Given the description of an element on the screen output the (x, y) to click on. 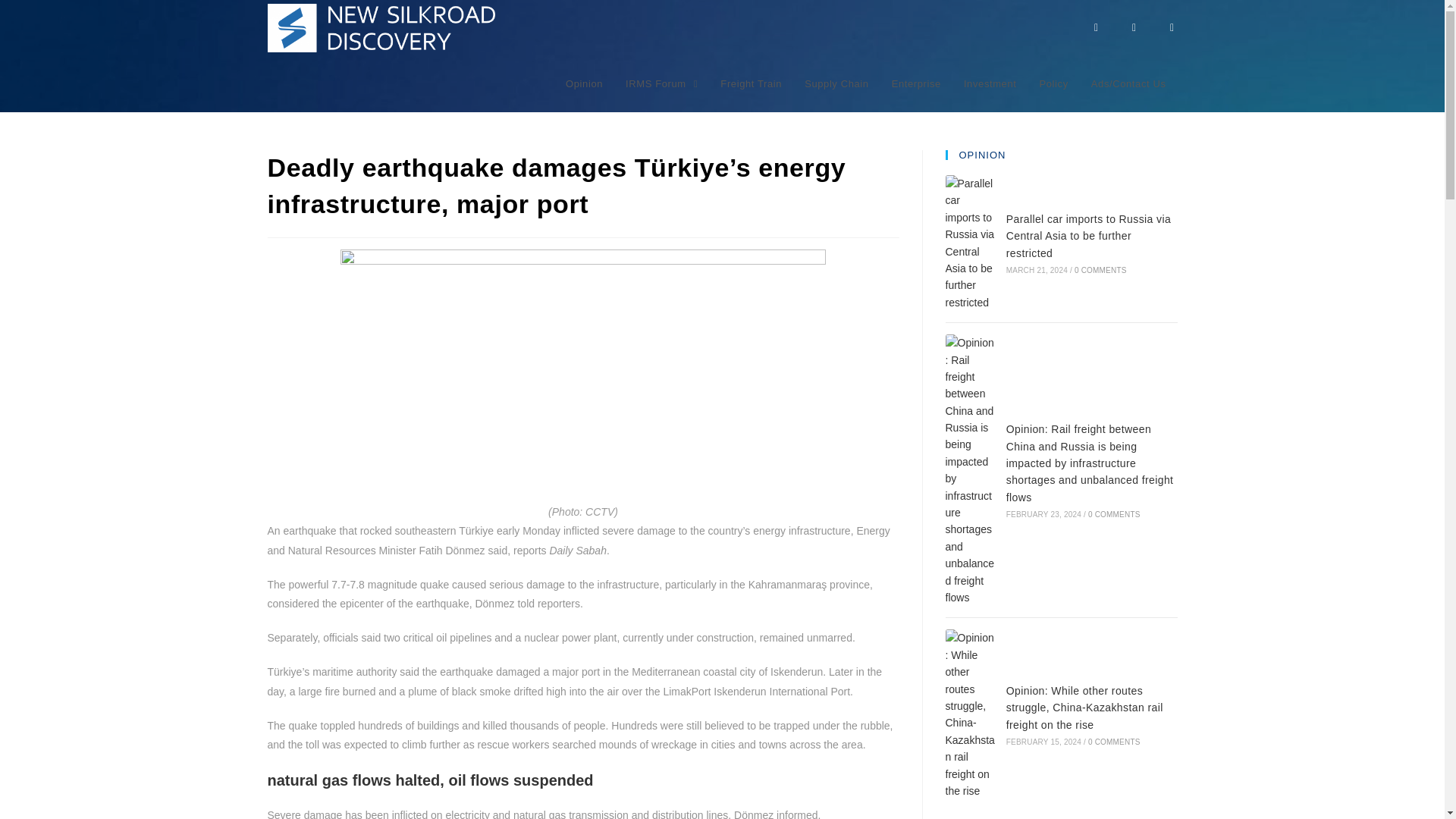
Opinion (584, 84)
Supply Chain (836, 84)
Policy (1053, 84)
Freight Train (751, 84)
IRMS Forum (661, 84)
Enterprise (916, 84)
Investment (989, 84)
